Given the description of an element on the screen output the (x, y) to click on. 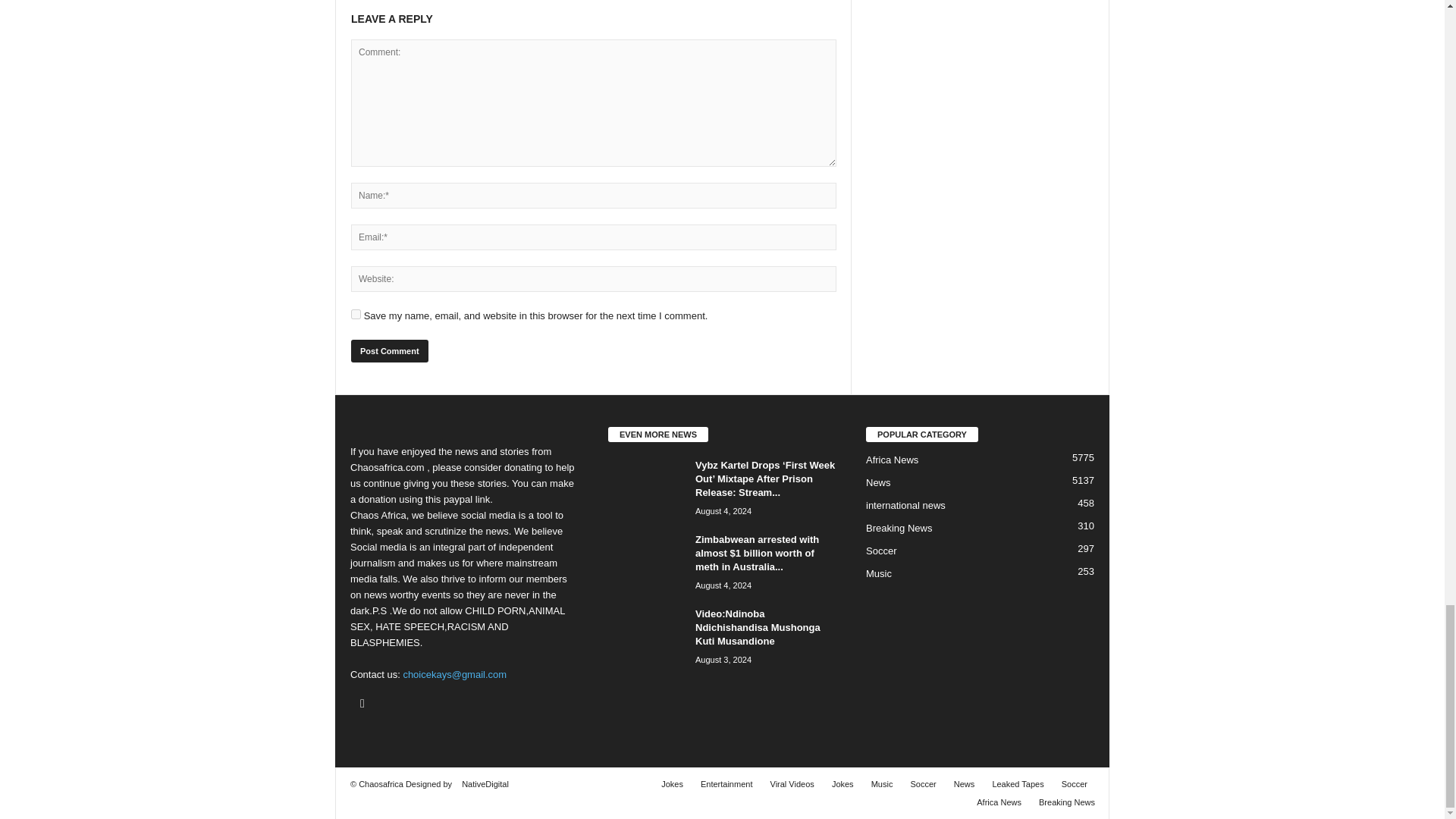
Post Comment (389, 350)
yes (355, 314)
